Given the description of an element on the screen output the (x, y) to click on. 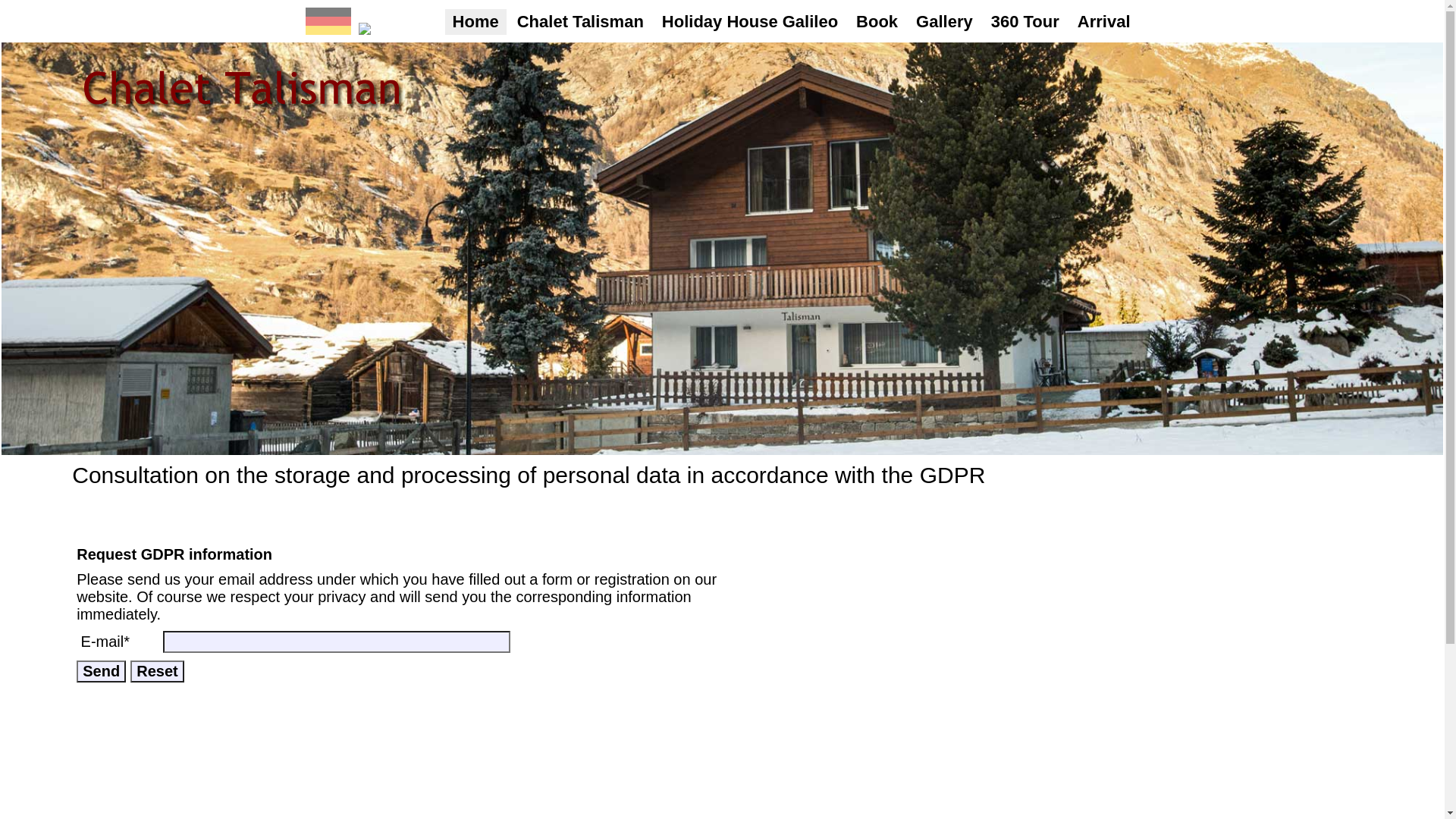
Book Element type: text (876, 21)
Englisch Element type: hover (363, 28)
360 Tour Element type: text (1024, 21)
Send Element type: text (100, 671)
Deutsch Element type: hover (327, 28)
Chalet Talisman Element type: text (580, 21)
Gallery Element type: text (944, 21)
Home Element type: text (475, 21)
Arrival Element type: text (1104, 21)
Holiday House Galileo Element type: text (749, 21)
